Given the description of an element on the screen output the (x, y) to click on. 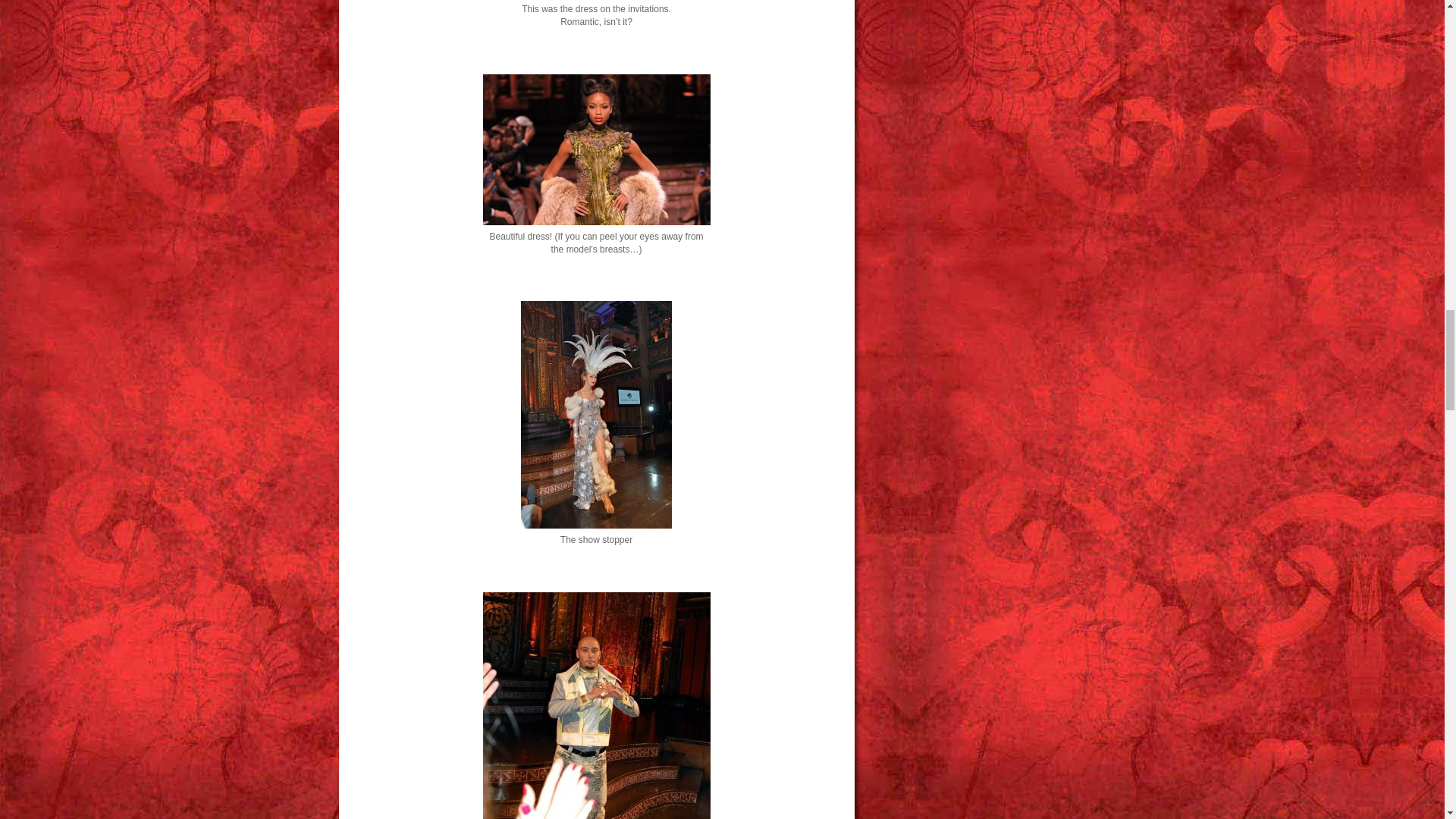
Green Dress (596, 149)
Leonid (596, 705)
